Given the description of an element on the screen output the (x, y) to click on. 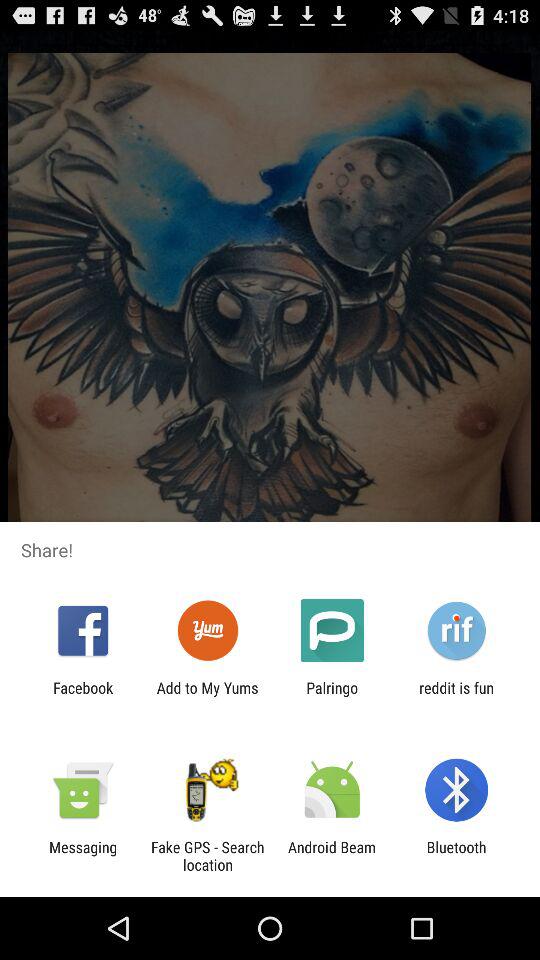
flip to fake gps search item (207, 856)
